Given the description of an element on the screen output the (x, y) to click on. 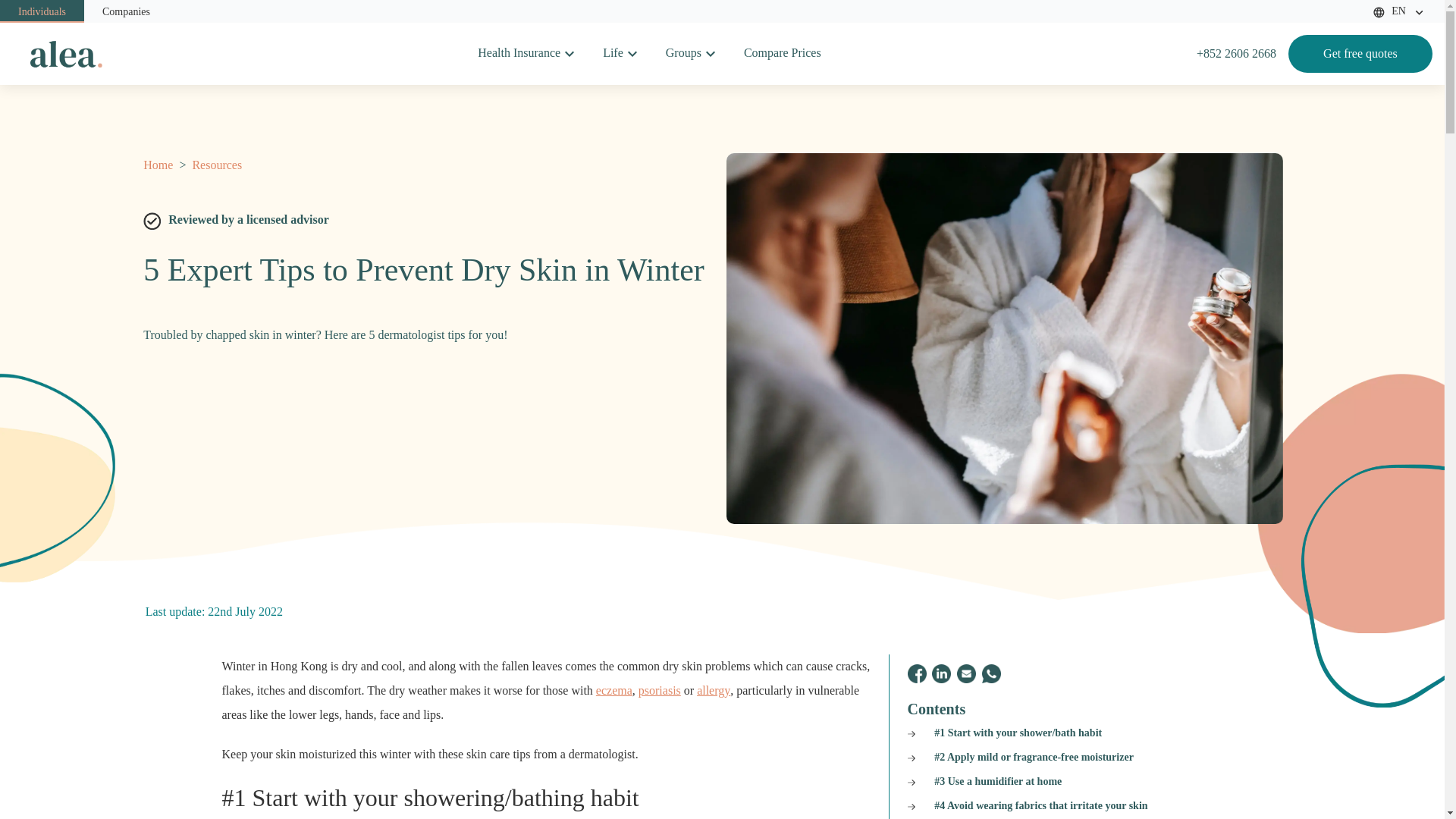
Compare Prices (782, 52)
Health Insurance (518, 52)
Get free quotes (1360, 53)
psoriasis (660, 689)
Groups (683, 52)
Resources (215, 164)
Home (159, 164)
eczema (613, 689)
allergy (713, 689)
Life (612, 52)
